Given the description of an element on the screen output the (x, y) to click on. 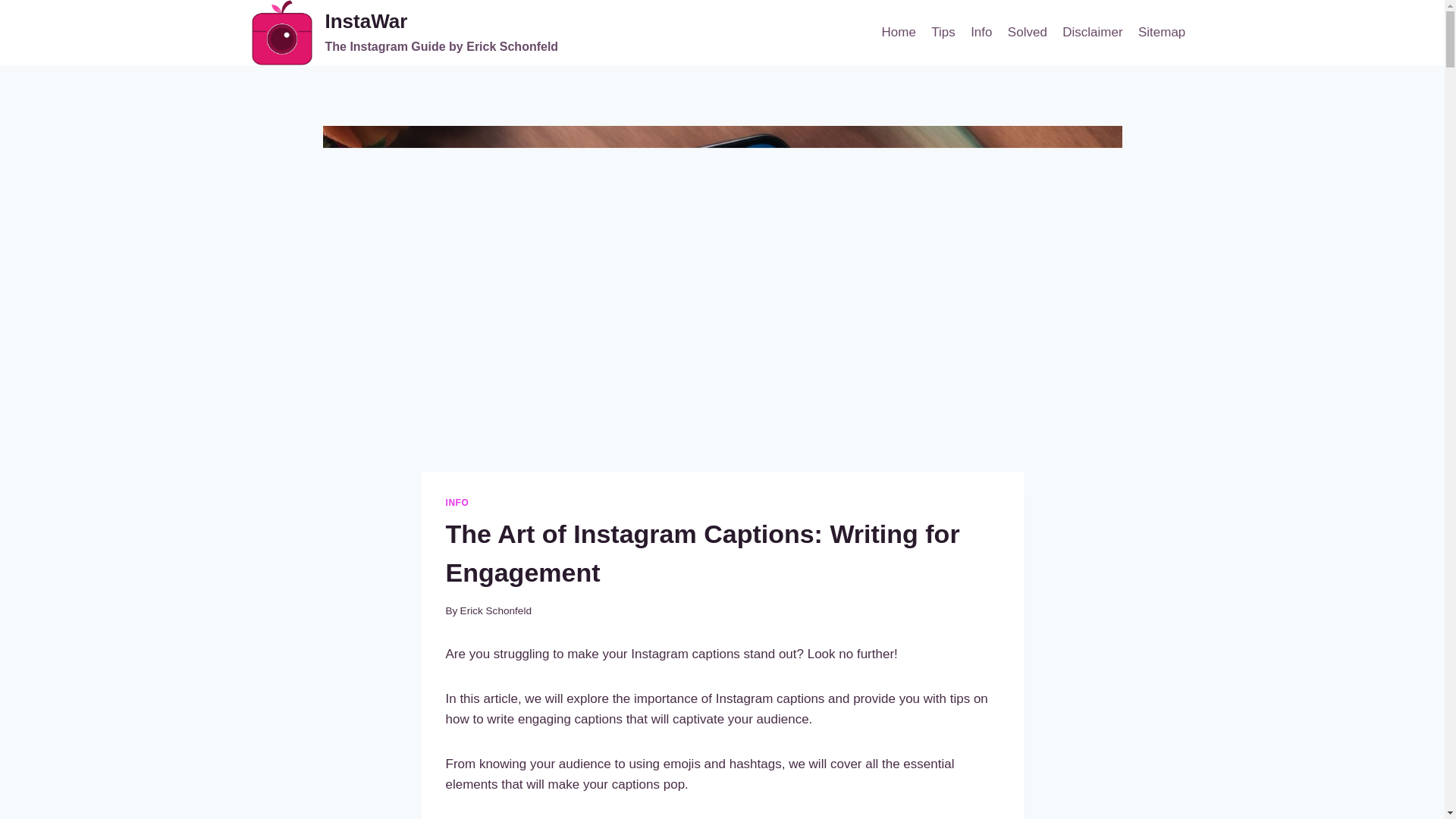
Disclaimer (1092, 32)
Solved (1027, 32)
Erick Schonfeld (405, 32)
Sitemap (495, 610)
Tips (1162, 32)
Home (942, 32)
INFO (898, 32)
Info (456, 502)
